Given the description of an element on the screen output the (x, y) to click on. 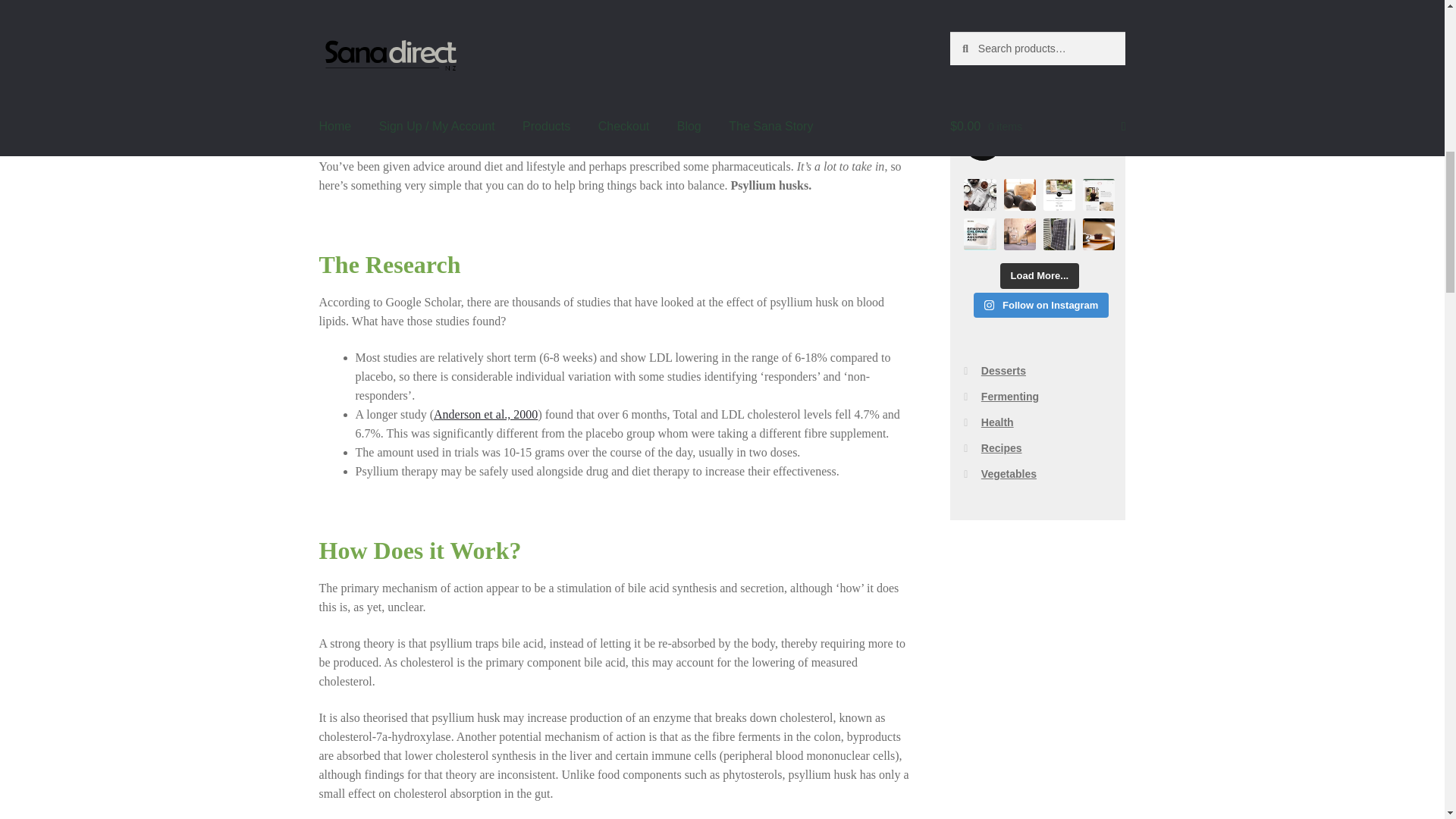
Anderson et al., 2000 (485, 413)
